Given the description of an element on the screen output the (x, y) to click on. 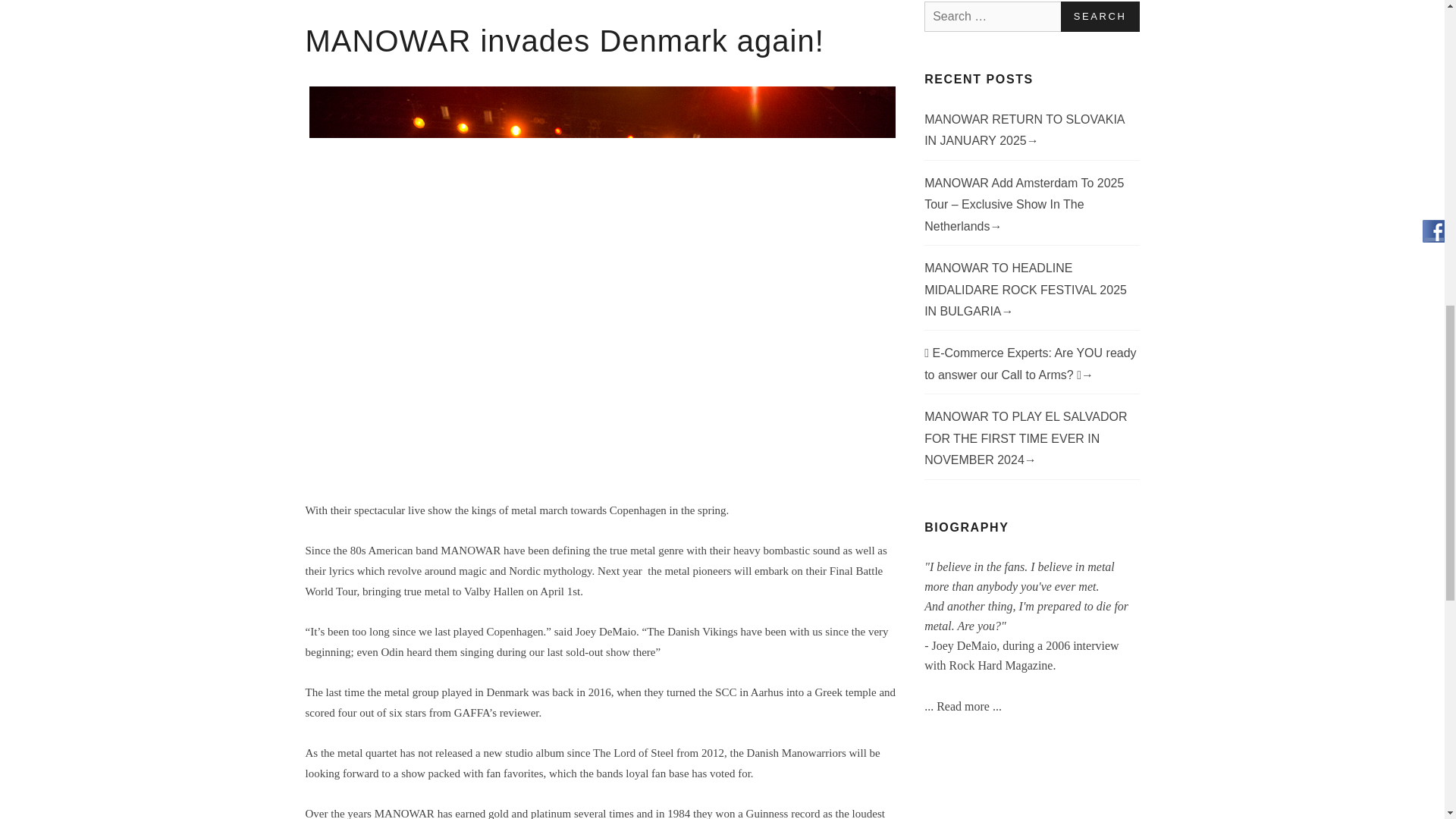
Search (1100, 16)
Search (1100, 16)
MANOWAR RETURN TO SLOVAKIA IN JANUARY 2025 (1024, 130)
Read more (964, 706)
Search (1100, 16)
